Given the description of an element on the screen output the (x, y) to click on. 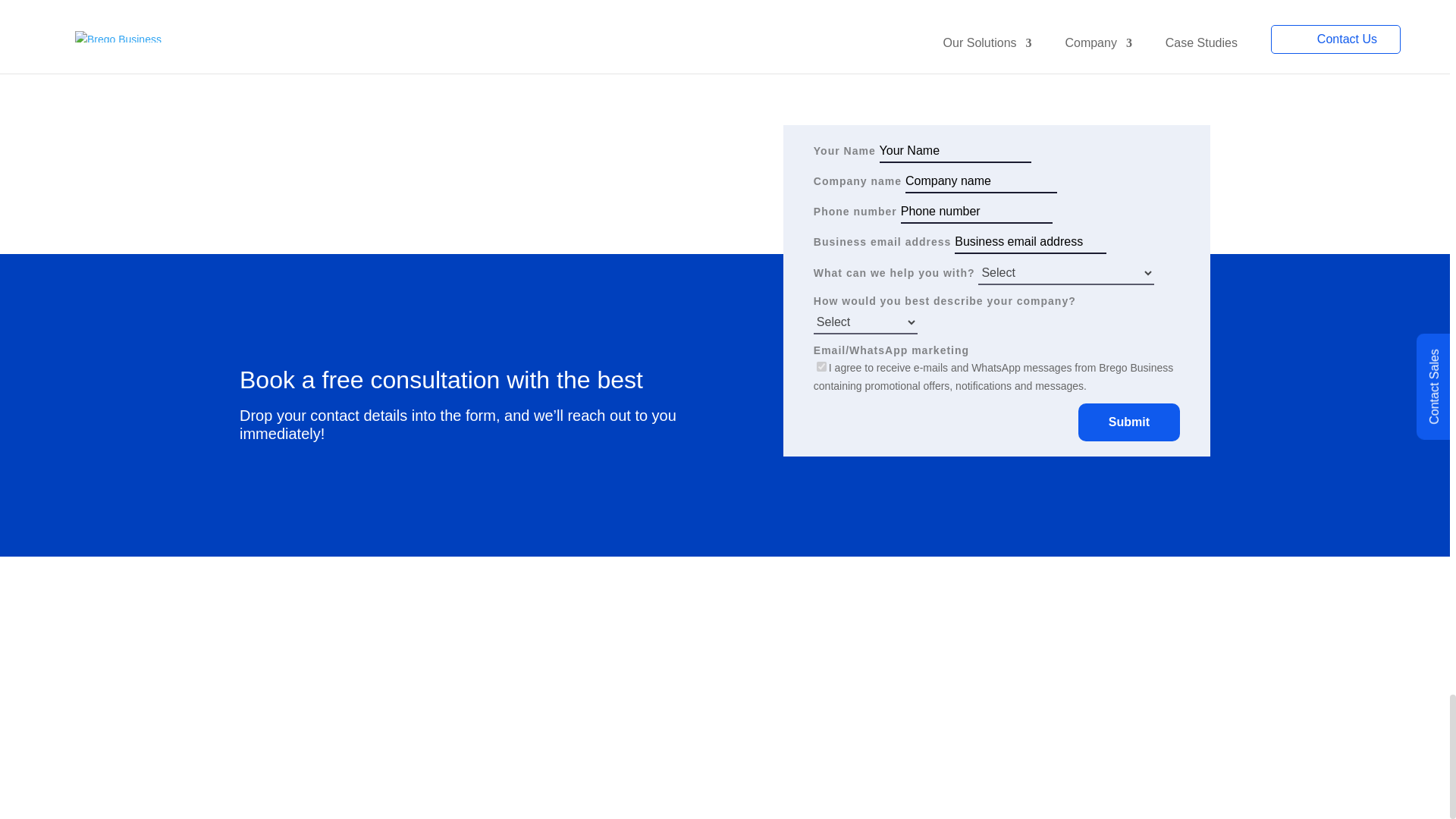
Submit (1128, 422)
